Given the description of an element on the screen output the (x, y) to click on. 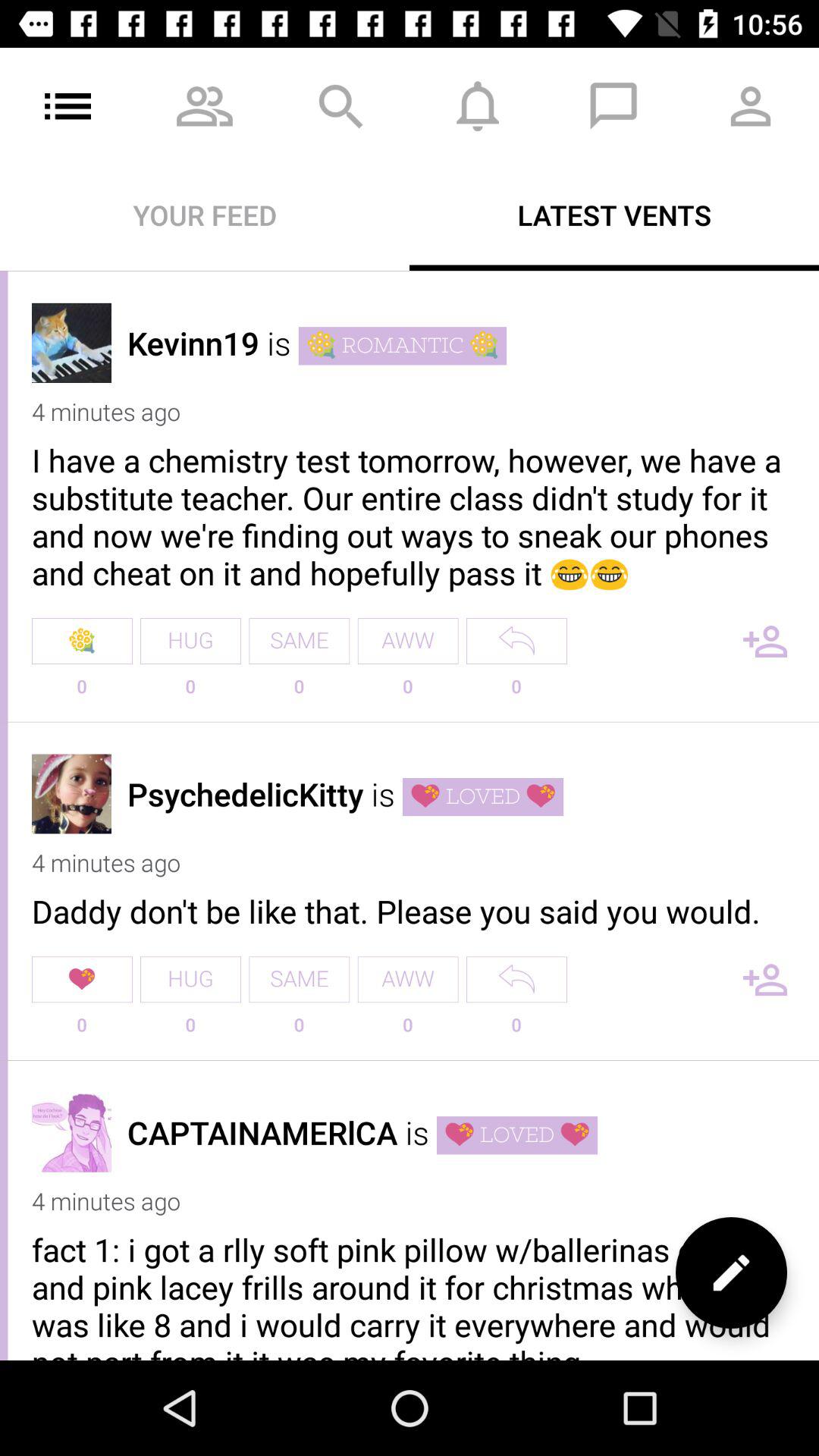
feelings (731, 1272)
